Given the description of an element on the screen output the (x, y) to click on. 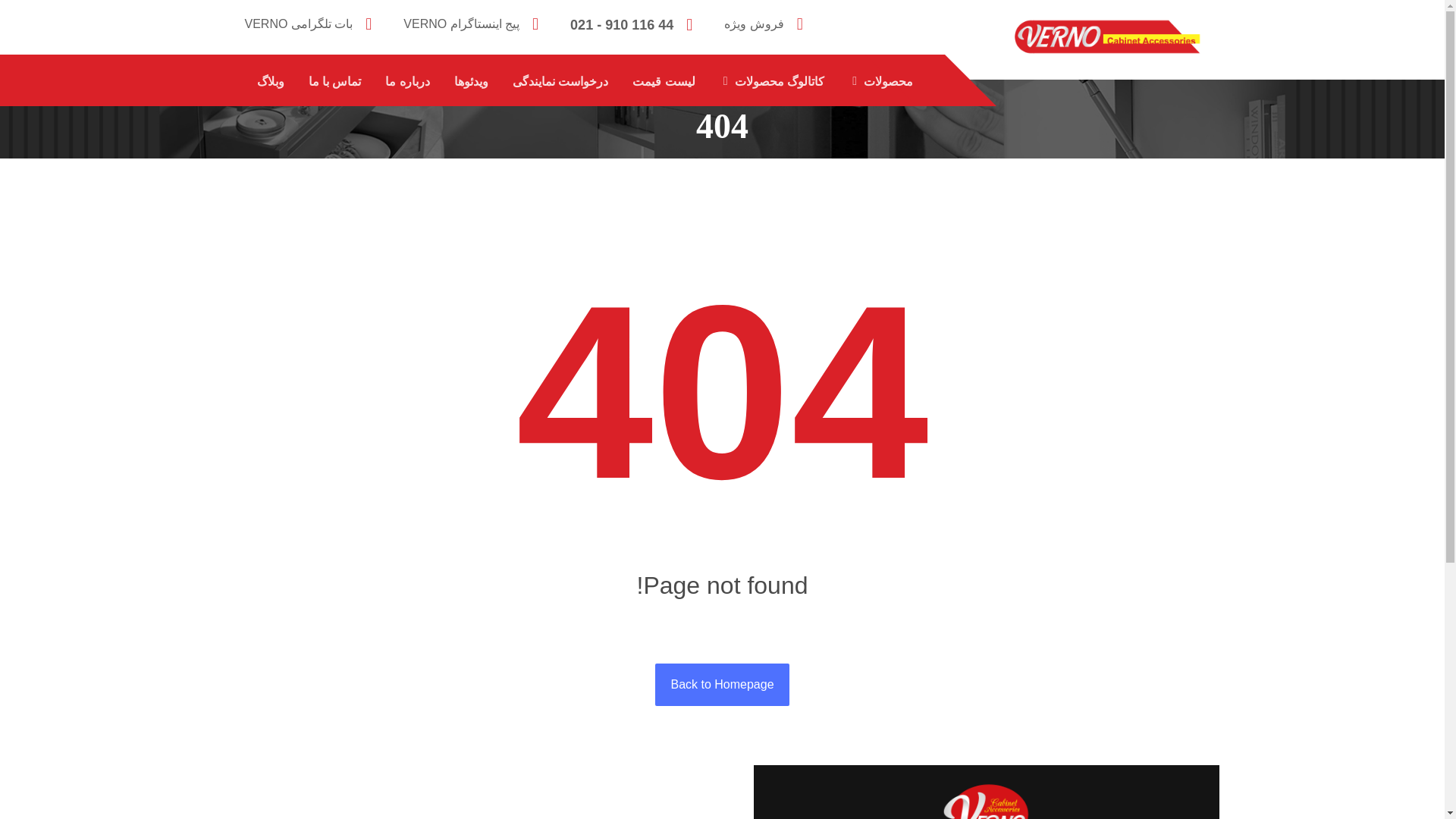
Back to Homepage (722, 684)
44 116 910 - 021 (635, 23)
